Given the description of an element on the screen output the (x, y) to click on. 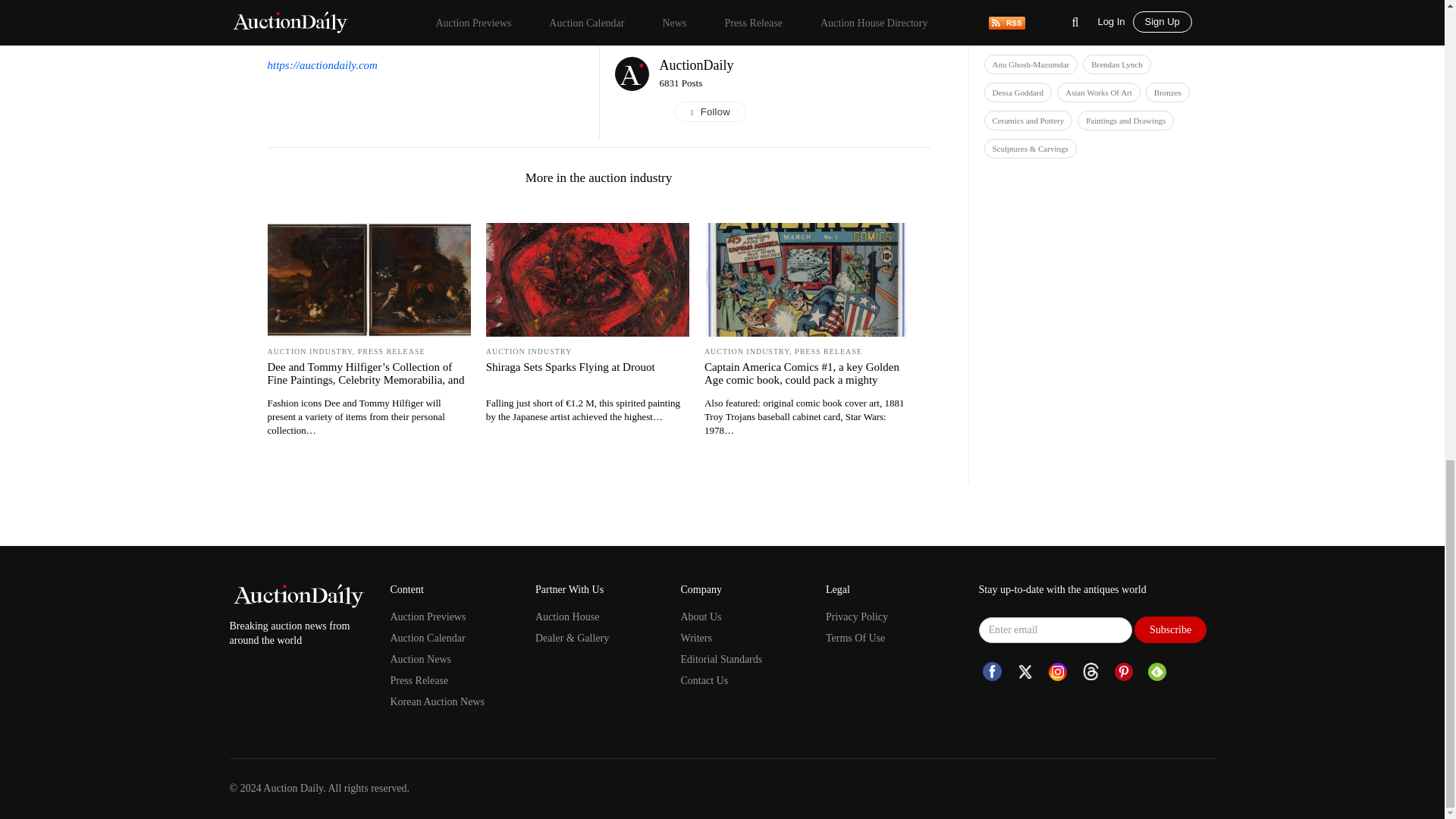
Subscribe (1170, 629)
AuctionDaily (696, 64)
Shiraga Sets Sparks Flying at Drouot (587, 367)
Follow (795, 112)
View Media Source (696, 64)
